Given the description of an element on the screen output the (x, y) to click on. 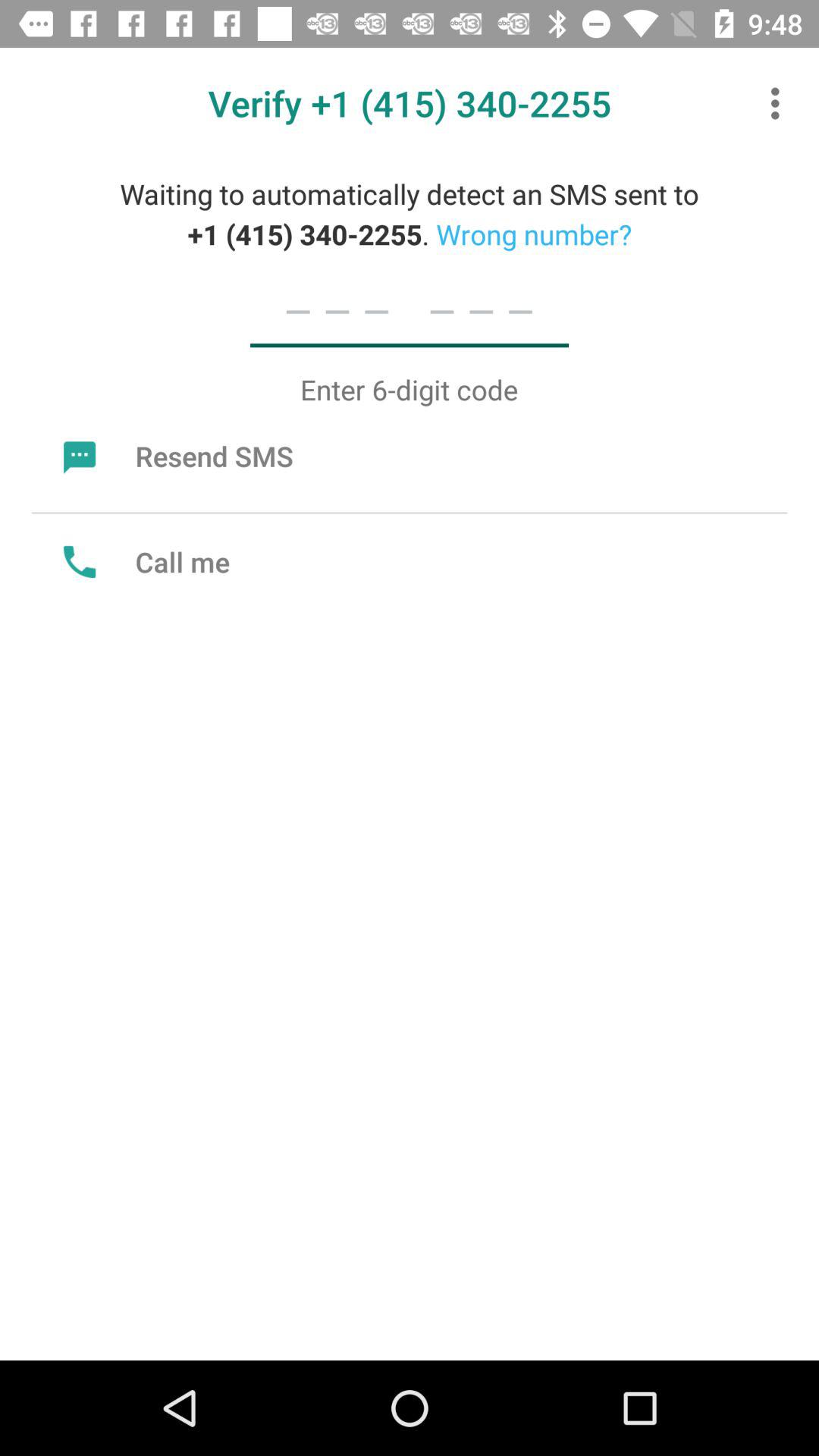
turn on icon to the right of the verify 1 415 icon (779, 103)
